Given the description of an element on the screen output the (x, y) to click on. 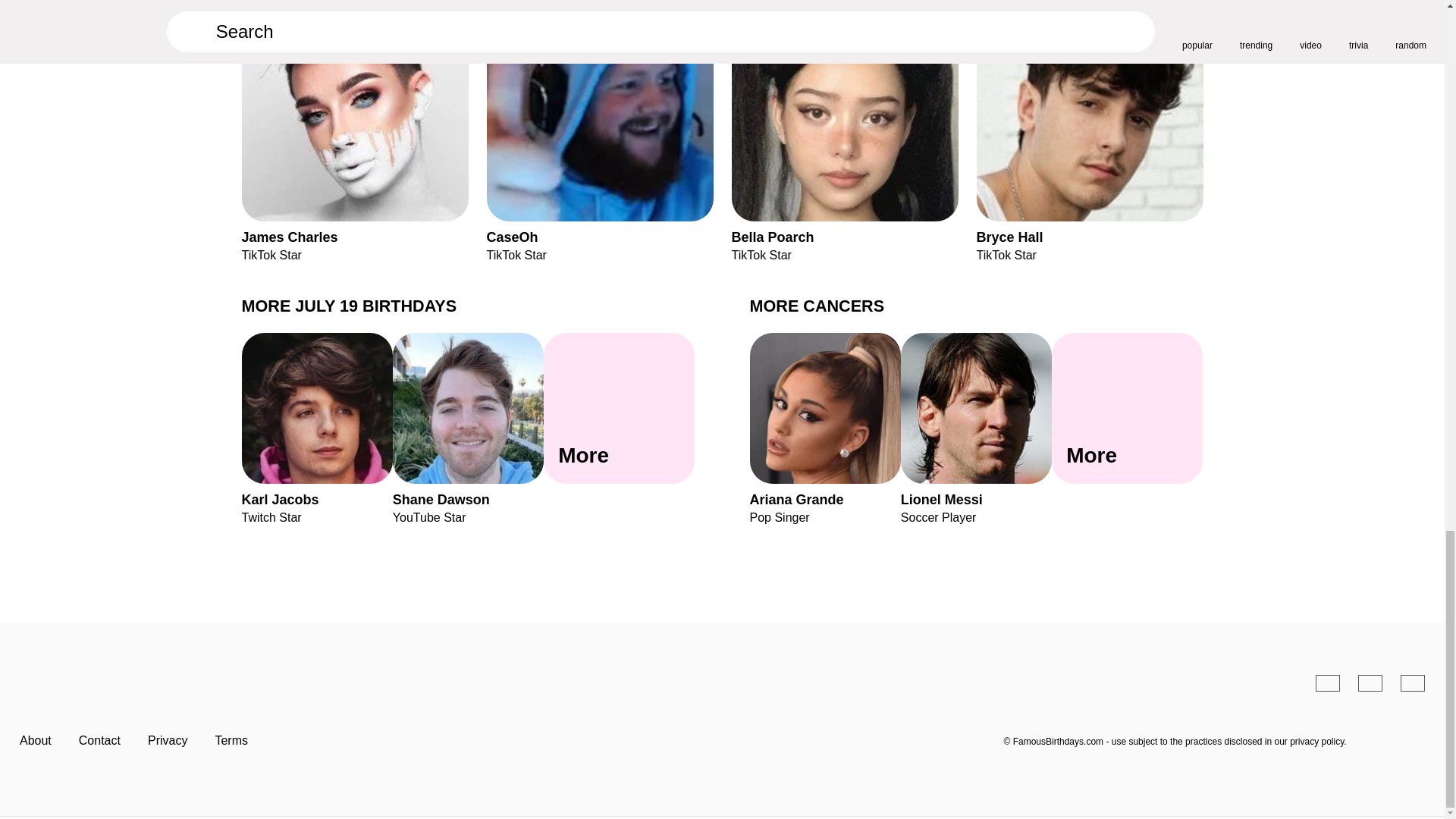
Portuguese (1369, 682)
Spanish (976, 428)
MORE JULY 19 BIRTHDAYS (844, 130)
French (316, 428)
More (1327, 682)
More (1090, 130)
MORE CANCERS (349, 305)
